Given the description of an element on the screen output the (x, y) to click on. 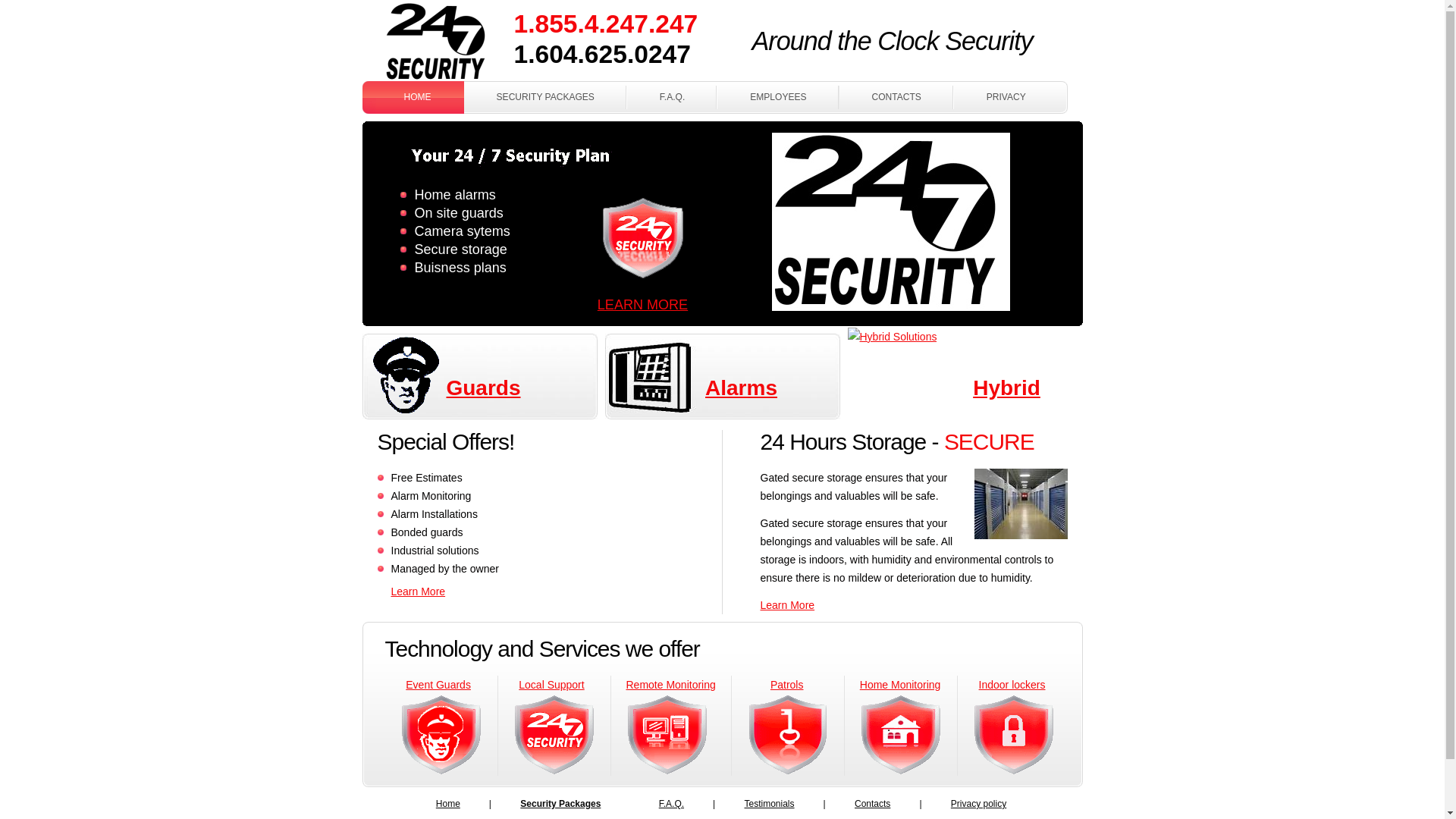
Remote Monitoring Element type: text (670, 684)
Indoor lockers Element type: text (1012, 684)
HOME Element type: text (413, 97)
Contacts Element type: text (873, 803)
Testimonials Element type: text (770, 803)
Security Packages Element type: text (561, 803)
Secure storage Element type: text (460, 249)
Patrols Element type: text (786, 684)
Guards Element type: text (482, 387)
EMPLOYEES Element type: text (777, 97)
F.A.Q. Element type: text (672, 803)
Home Element type: text (449, 803)
guards Element type: hover (479, 373)
SECURITY PACKAGES Element type: text (545, 97)
PRIVACY Element type: text (1010, 97)
Camera sytems Element type: text (461, 230)
Learn More Element type: text (418, 591)
On site guards Element type: text (458, 212)
Privacy policy Element type: text (979, 803)
LEARN MORE Element type: text (642, 304)
F.A.Q. Element type: text (672, 97)
Local Support Element type: text (550, 684)
Alarms Element type: text (741, 387)
Hybrid Element type: text (1006, 387)
Buisness plans Element type: text (459, 267)
Event Guards Element type: hover (441, 734)
CONTACTS Element type: text (896, 97)
Learn More Element type: text (786, 605)
Event Guards Element type: text (437, 684)
Home Monitoring Element type: text (900, 684)
Hybrid Solutions Element type: hover (892, 336)
Home alarms Element type: text (454, 194)
alarms Element type: hover (722, 373)
